Given the description of an element on the screen output the (x, y) to click on. 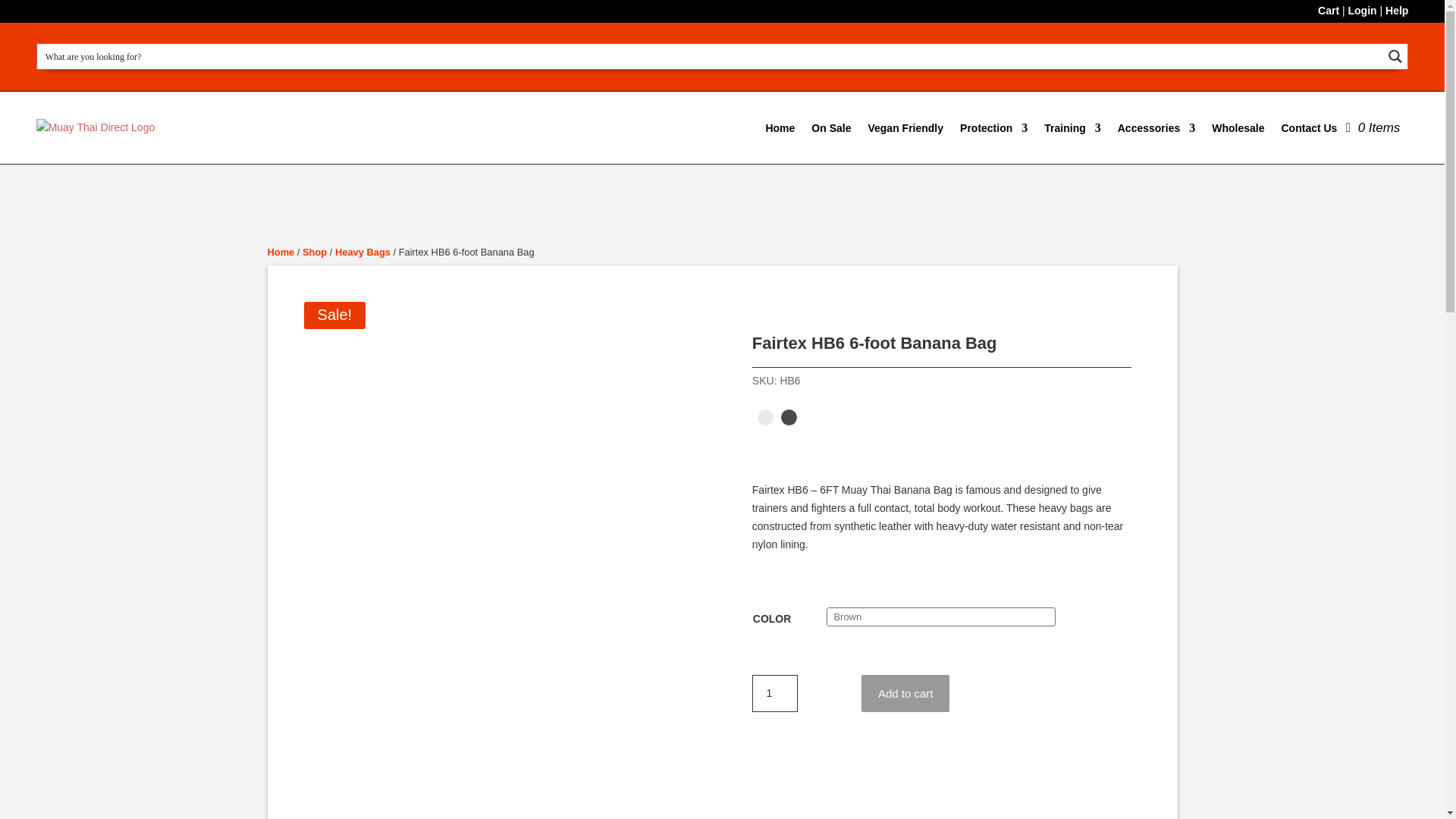
Home (280, 251)
Heavy Bags (362, 251)
Contact Us (1309, 128)
Wholesale (1237, 128)
Shop (314, 251)
1 (774, 692)
Protection (993, 128)
Vegan Friendly (905, 128)
Help (1396, 10)
Accessories (1156, 128)
